Given the description of an element on the screen output the (x, y) to click on. 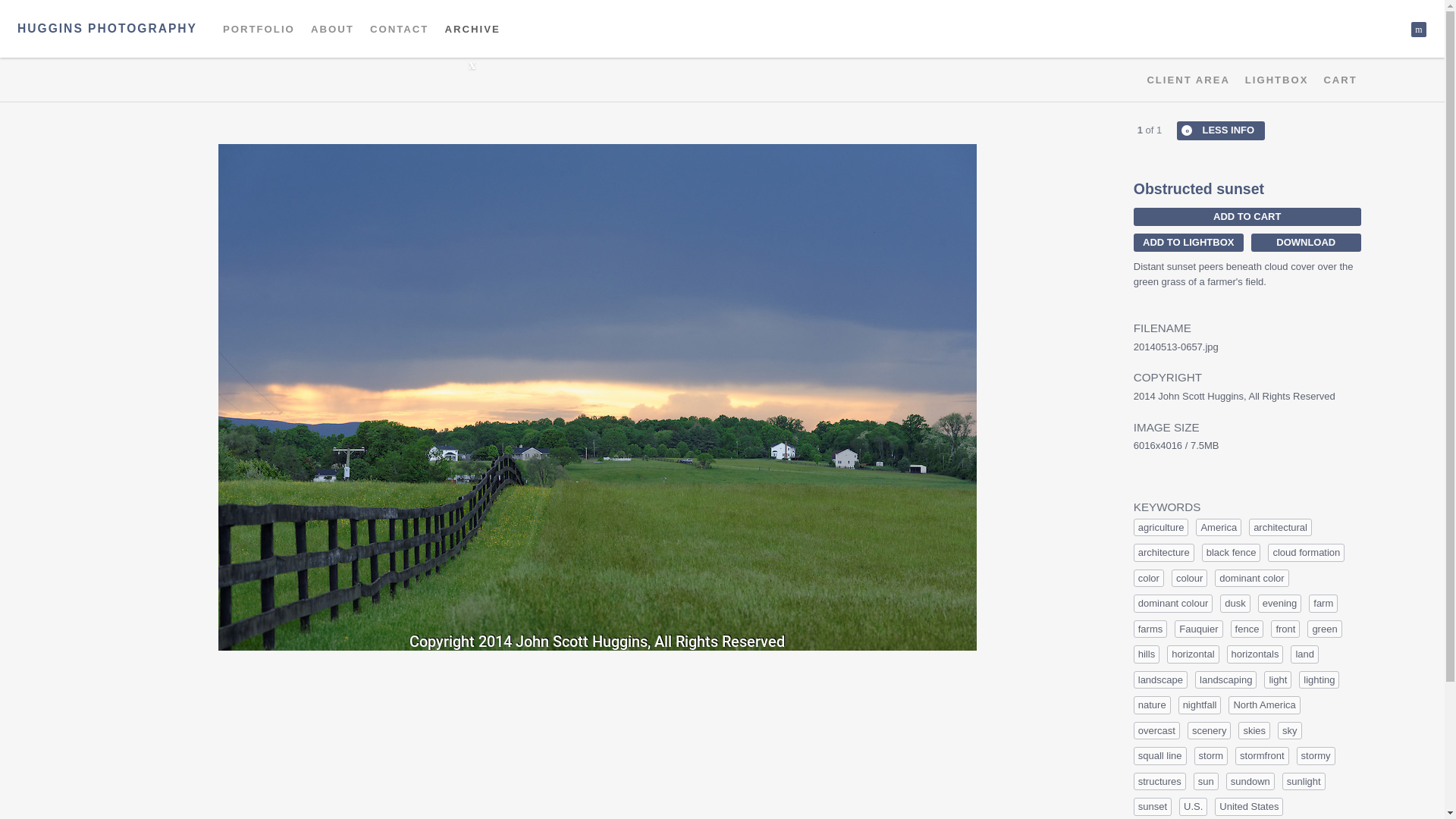
farms (1150, 628)
landscape (1161, 679)
DOWNLOAD (1305, 242)
HUGGINS PHOTOGRAPHY (106, 28)
land (1304, 654)
front (1285, 628)
black fence (1231, 552)
architecture (1163, 552)
America (1218, 527)
Info (1220, 130)
hills (1146, 654)
architectural (1280, 527)
green (1323, 628)
color (1148, 578)
dominant colour (1173, 603)
